Given the description of an element on the screen output the (x, y) to click on. 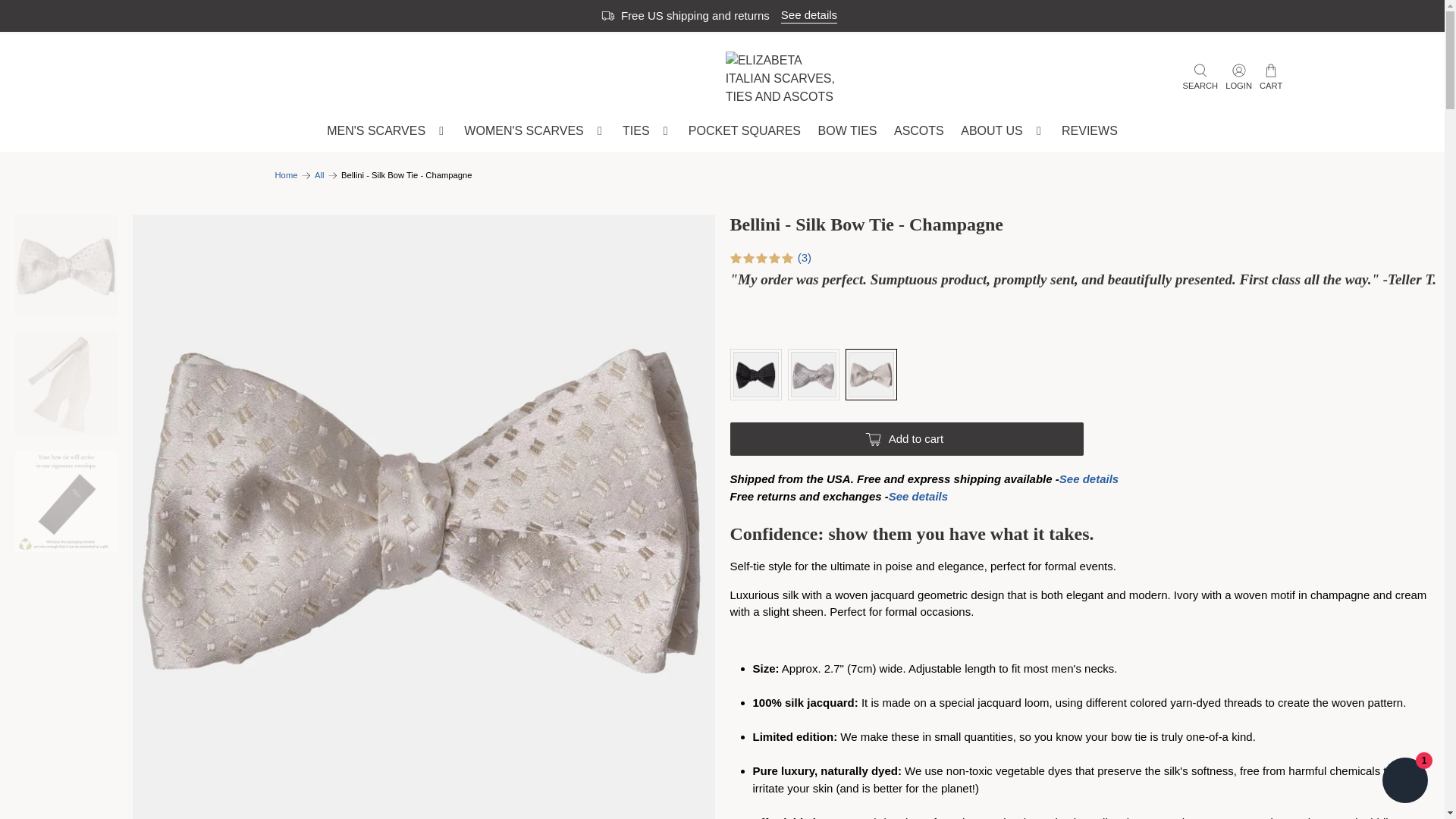
Men's Italian Silk Bow Tie - Ivory Formal (423, 807)
ASCOTS (918, 130)
REVIEWS (1088, 130)
Our Returns and Exchanges Policy (917, 495)
Elizabetta (286, 175)
BOW TIES (847, 130)
Shipping and Packaging (1088, 478)
Elizabetta (783, 78)
WOMEN'S SCARVES (534, 130)
POCKET SQUARES (744, 130)
See details (808, 15)
TIES (646, 130)
ABOUT US (1002, 130)
MEN'S SCARVES (386, 130)
